Given the description of an element on the screen output the (x, y) to click on. 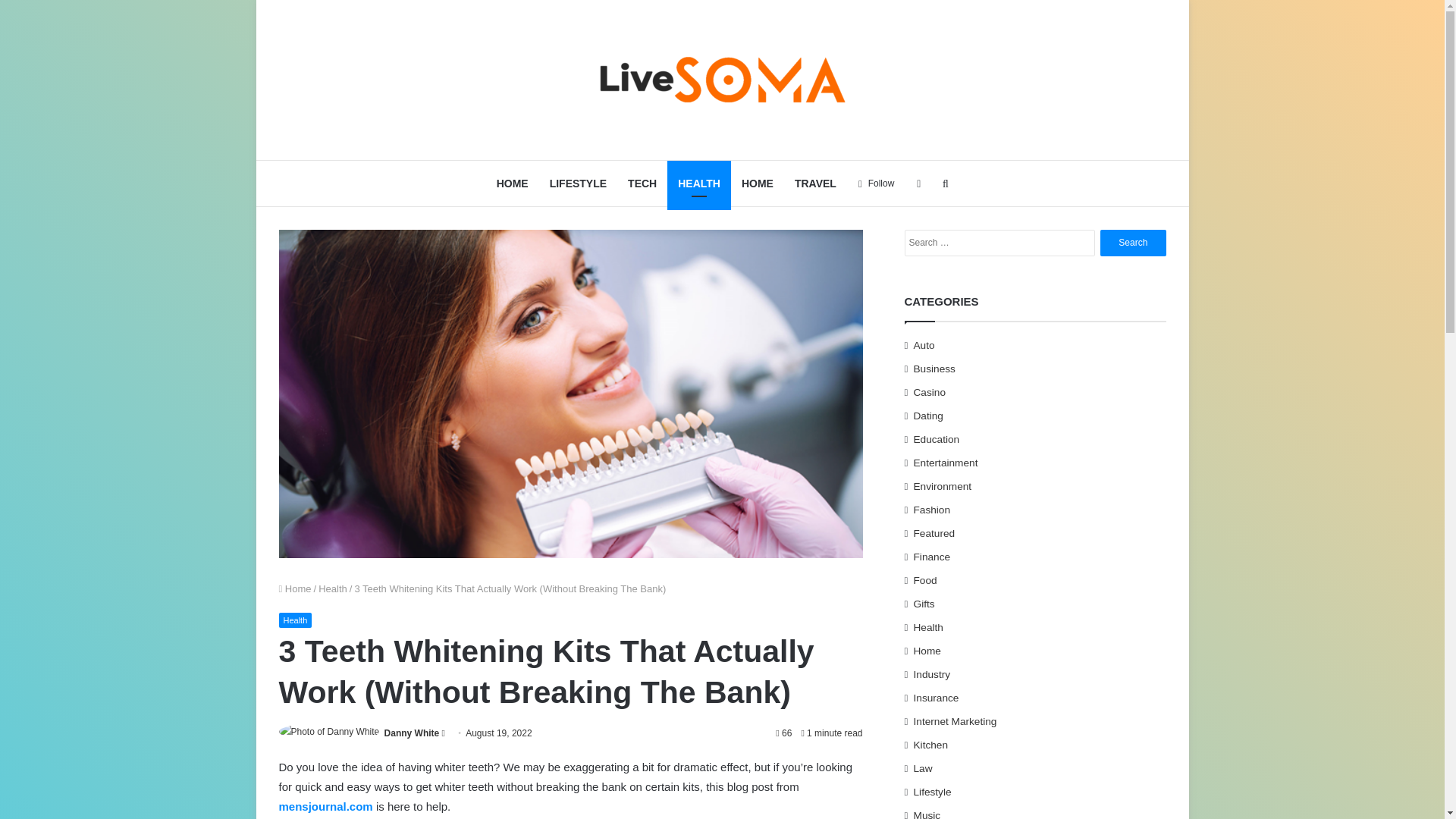
Auto (924, 344)
Business (934, 368)
HEALTH (698, 183)
TRAVEL (815, 183)
Home (295, 588)
TECH (641, 183)
HOME (757, 183)
Danny White (411, 733)
mensjournal.com (325, 806)
Health (332, 588)
Casino (929, 391)
Search (1133, 243)
Danny White (411, 733)
Search (1133, 243)
Education (936, 438)
